Given the description of an element on the screen output the (x, y) to click on. 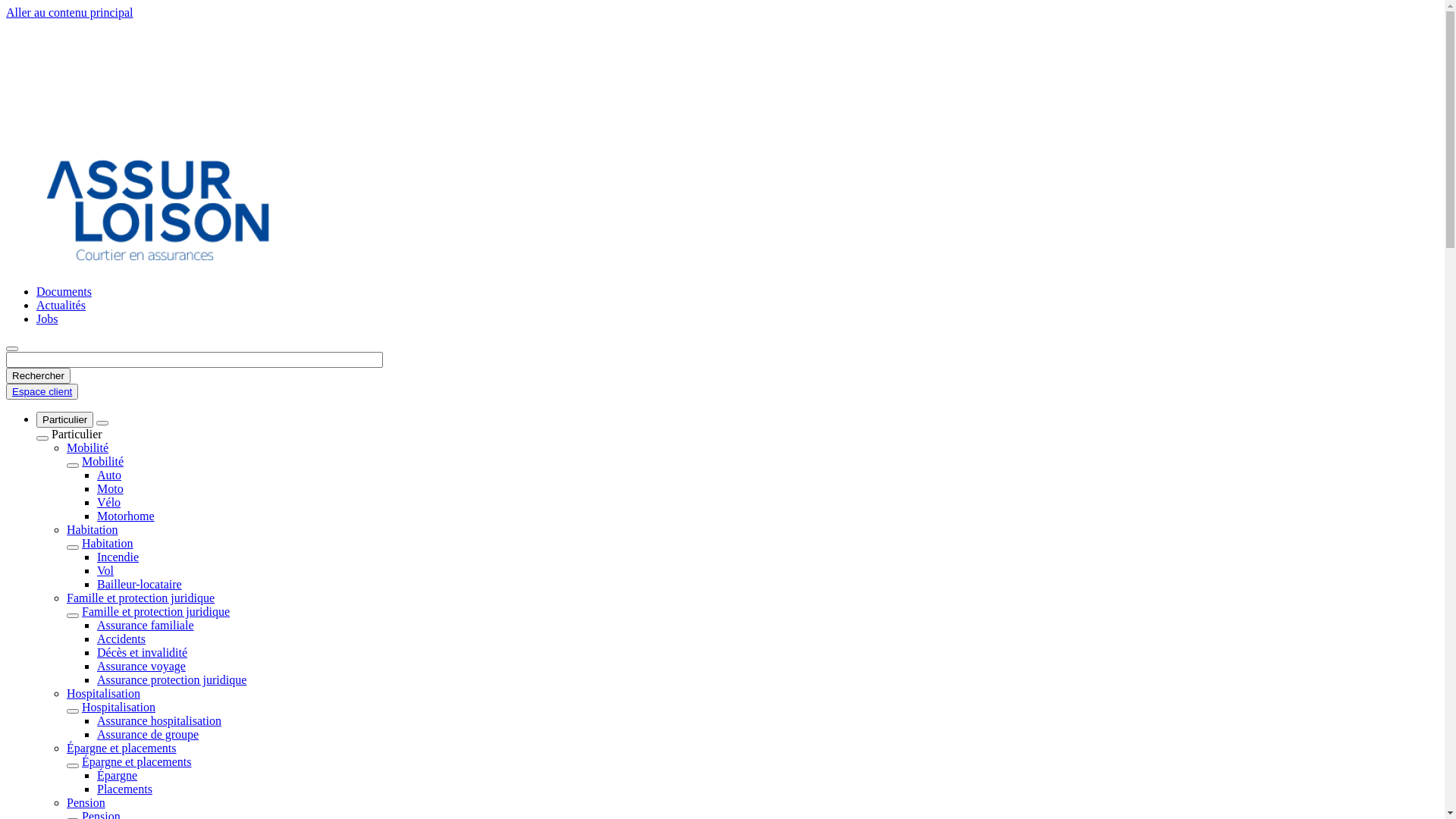
Assurance de groupe Element type: text (147, 734)
Incendie Element type: text (117, 556)
Hospitalisation Element type: text (103, 693)
Famille et protection juridique Element type: text (155, 611)
Assurance hospitalisation Element type: text (159, 720)
Documents Element type: text (63, 291)
Bailleur-locataire Element type: text (139, 583)
Moto Element type: text (110, 488)
Assurance protection juridique Element type: text (171, 679)
Hospitalisation Element type: text (118, 706)
Particulier Element type: text (64, 419)
Motorhome Element type: text (125, 515)
Pension Element type: text (85, 802)
Famille et protection juridique Element type: text (140, 597)
Aller au contenu principal Element type: text (69, 12)
Rechercher Element type: text (38, 375)
Auto Element type: text (109, 474)
Espace client Element type: text (42, 391)
Jobs Element type: text (46, 318)
Placements Element type: text (124, 788)
Assurance voyage Element type: text (141, 665)
Assurance familiale Element type: text (145, 624)
Habitation Element type: text (92, 529)
Accidents Element type: text (121, 638)
Espace client Element type: text (42, 391)
Vol Element type: text (105, 570)
Habitation Element type: text (107, 542)
